Given the description of an element on the screen output the (x, y) to click on. 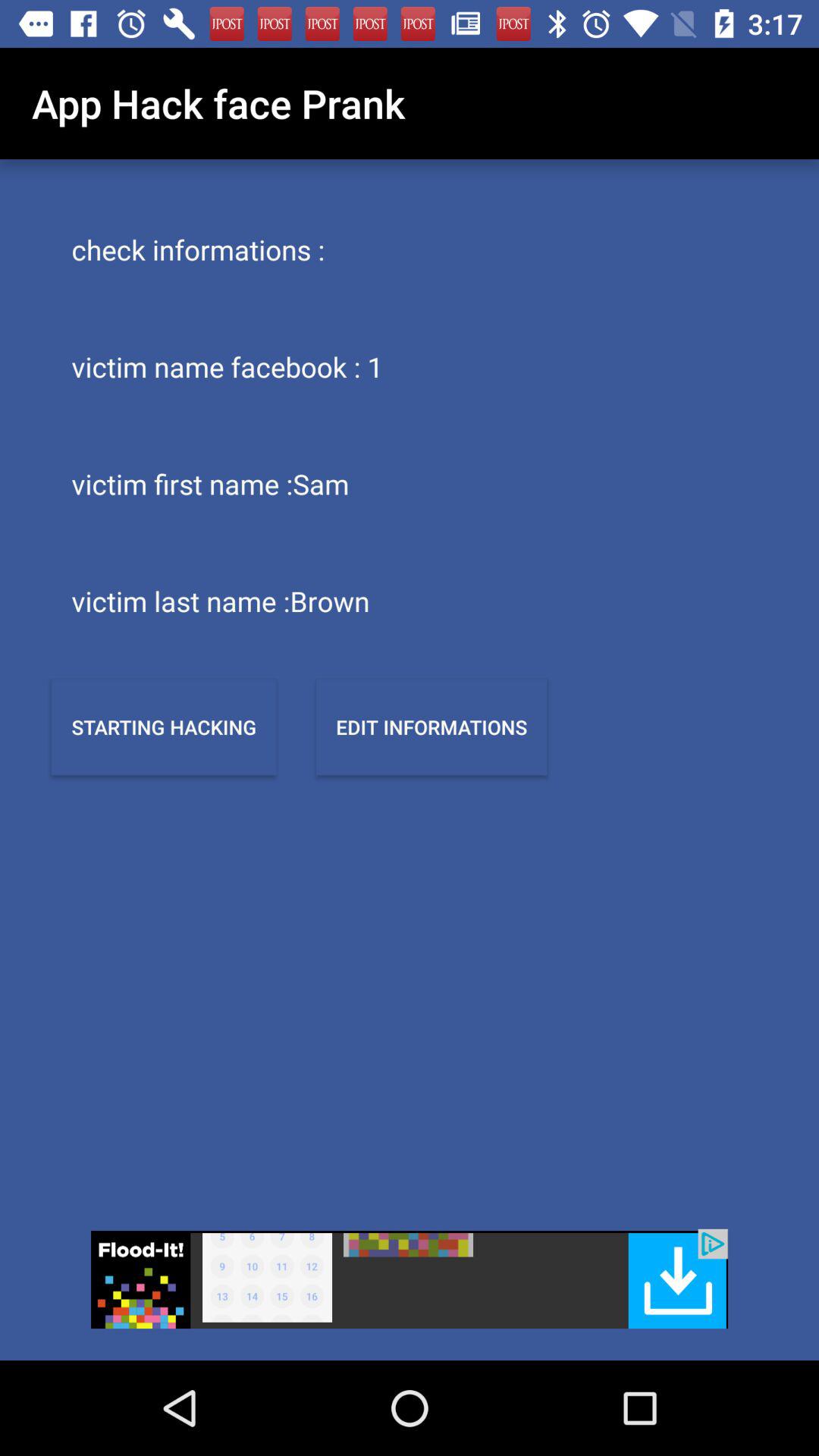
downloading (409, 1278)
